Given the description of an element on the screen output the (x, y) to click on. 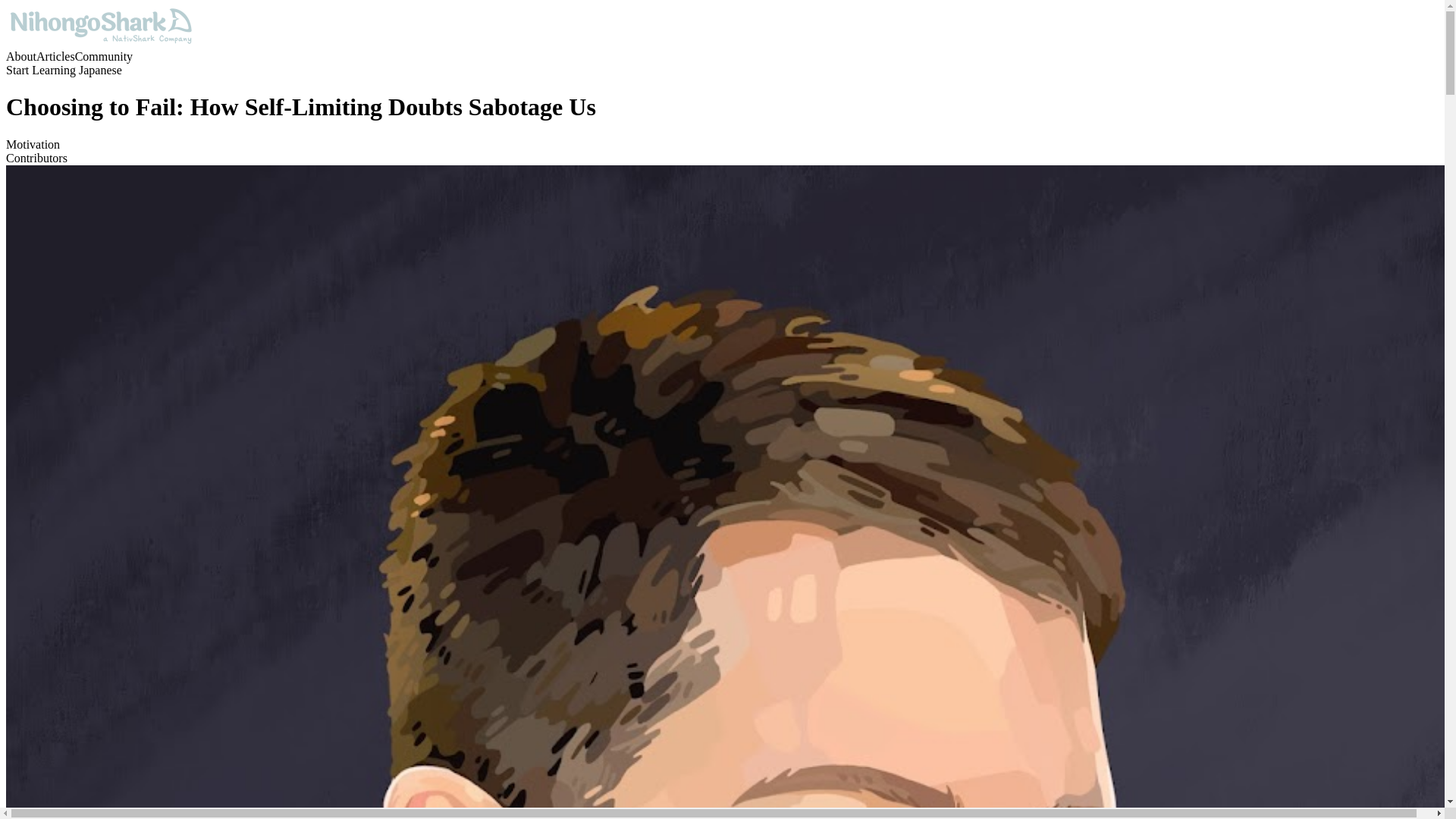
About (20, 56)
Community (103, 56)
Start Learning Japanese (63, 69)
Articles (55, 56)
